Given the description of an element on the screen output the (x, y) to click on. 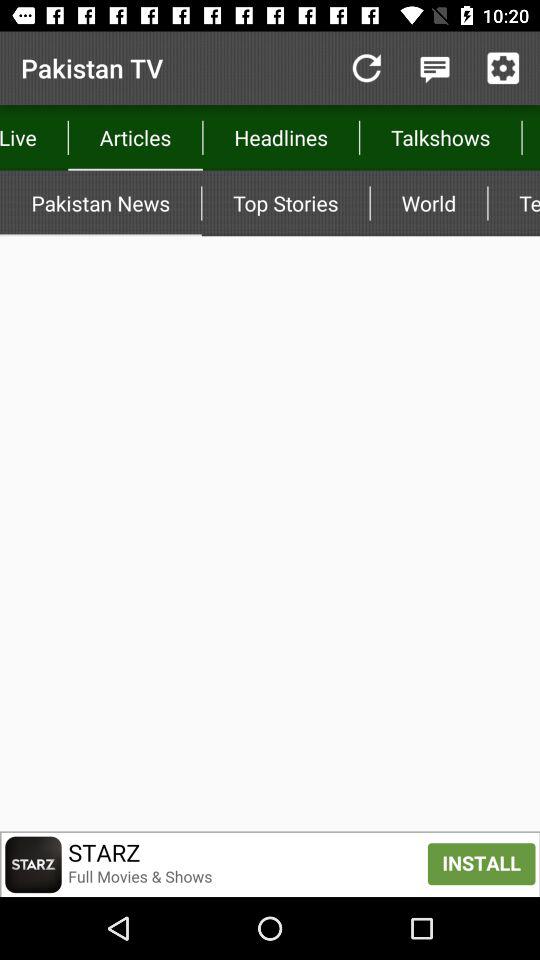
launch the item to the left of top stories icon (100, 203)
